Given the description of an element on the screen output the (x, y) to click on. 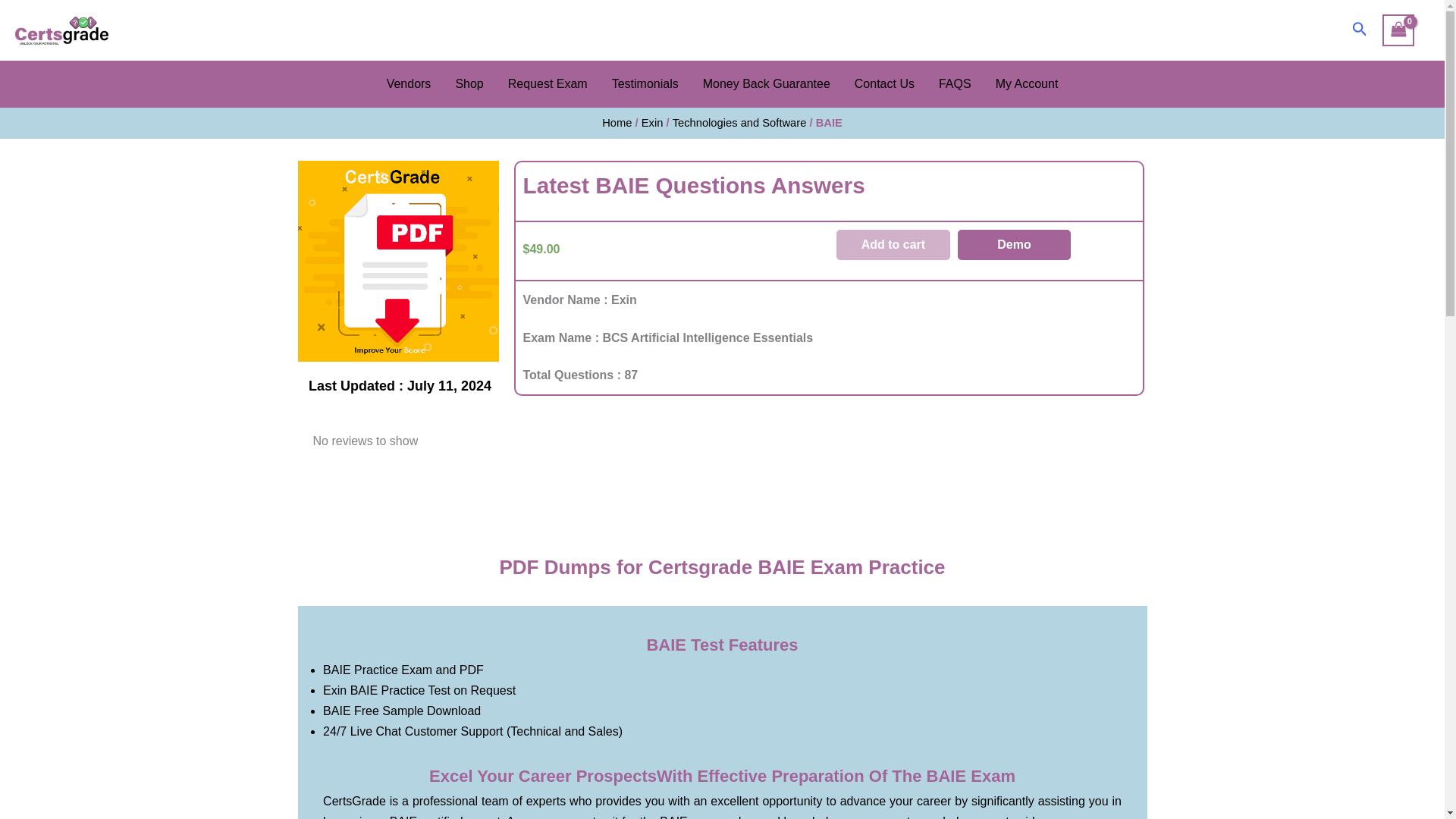
Add to cart (892, 245)
Demo (1014, 245)
Testimonials (644, 84)
BCS Artificial Intelligence Essentials (397, 260)
FAQS (955, 84)
Technologies and Software (739, 122)
Home (616, 122)
Money Back Guarantee (766, 84)
Exin (652, 122)
BCS Artificial Intelligence Essentials (60, 30)
Request Exam (547, 84)
My Account (1027, 84)
Vendors (409, 84)
Shop (468, 84)
Contact Us (884, 84)
